Given the description of an element on the screen output the (x, y) to click on. 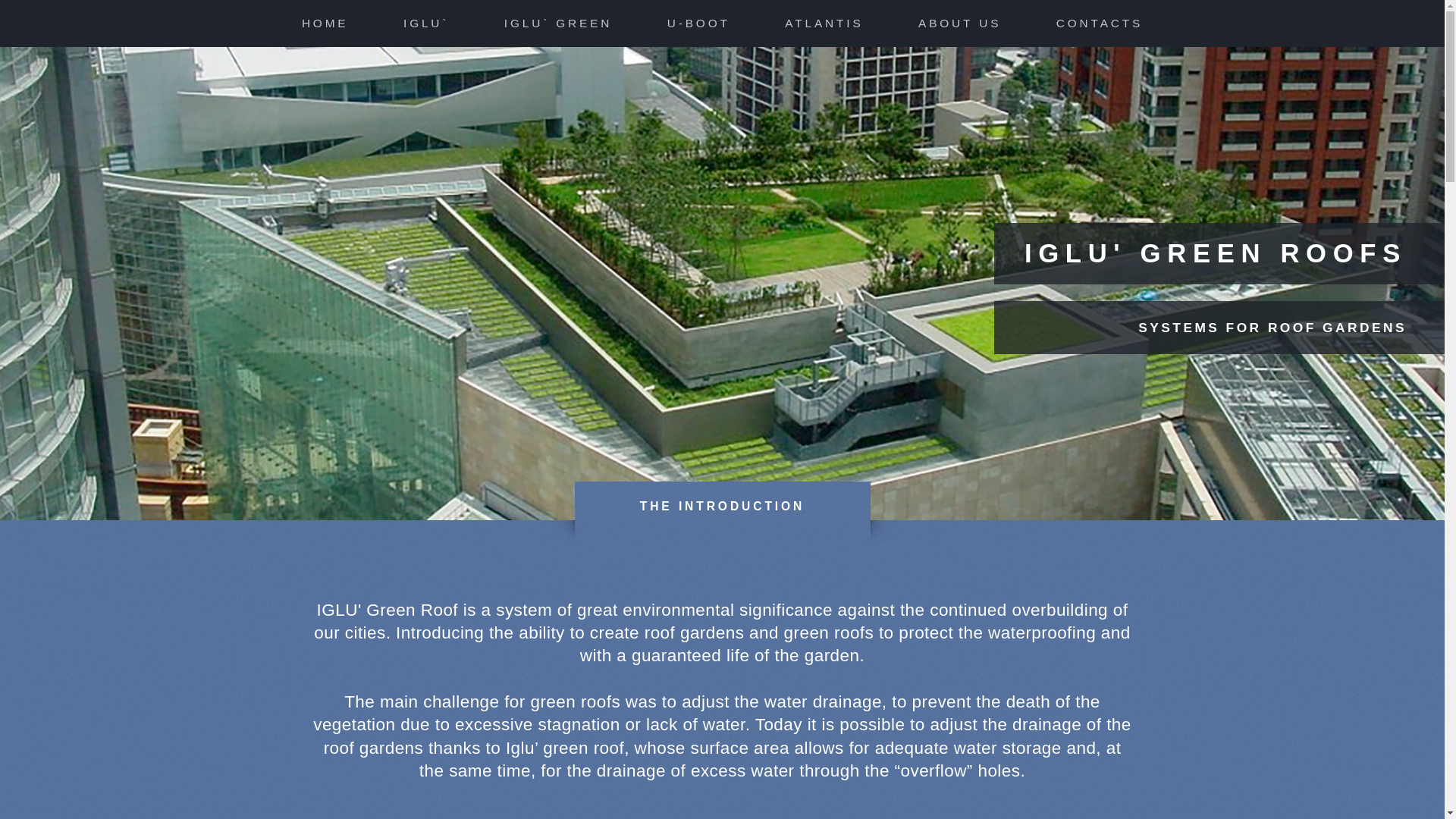
ABOUT US (959, 22)
HOME (325, 22)
CONTACTS (1099, 22)
U-BOOT (698, 22)
ATLANTIS (823, 22)
CONTACTS (1099, 22)
